Given the description of an element on the screen output the (x, y) to click on. 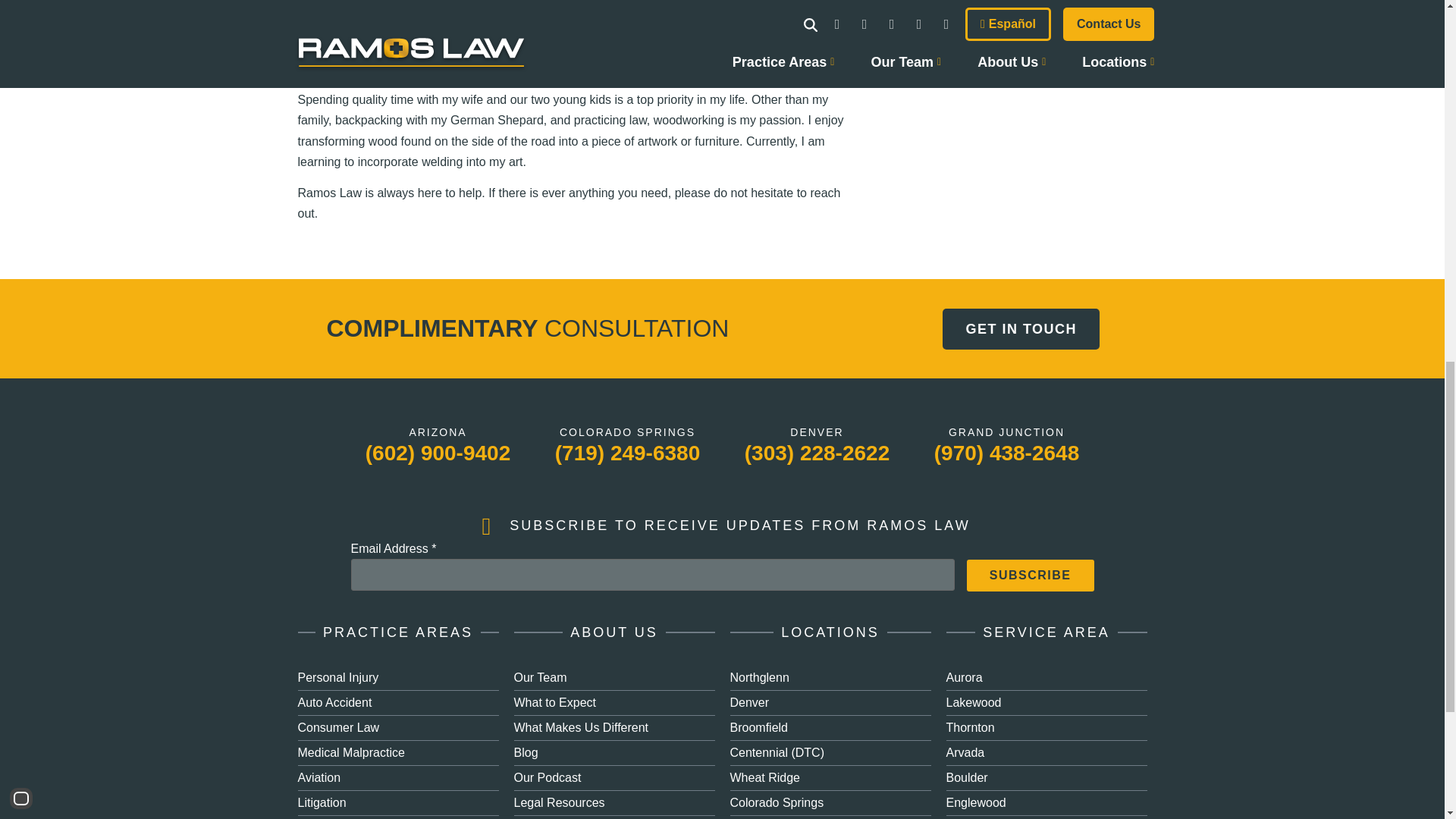
Subscribe (1030, 575)
